Given the description of an element on the screen output the (x, y) to click on. 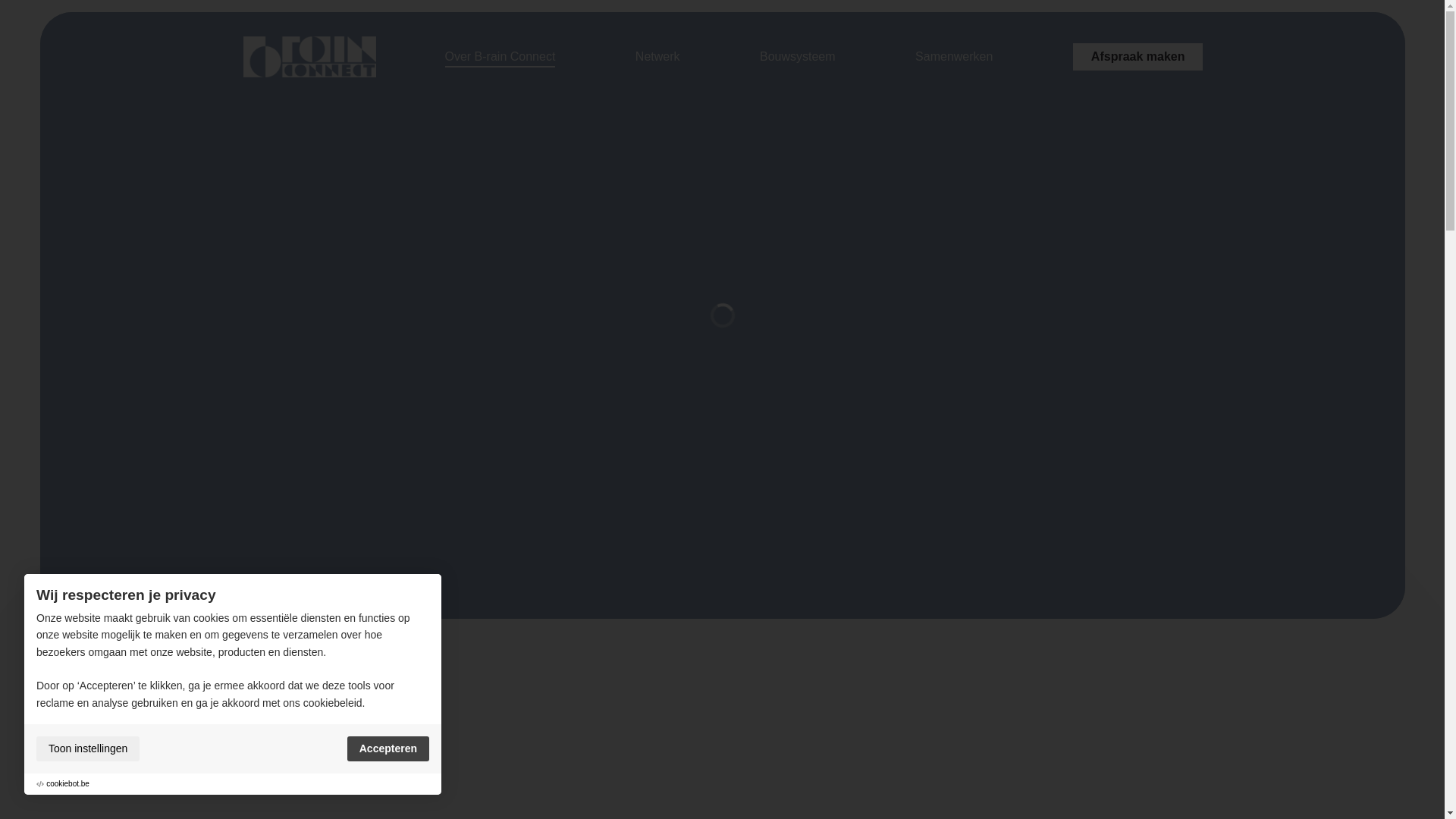
Afspraak maken Element type: text (1138, 56)
Accepteren Element type: text (388, 748)
cookiebot.be Element type: text (67, 783)
Netwerk Element type: text (657, 56)
Samenwerken Element type: text (953, 56)
Over B-rain Connect Element type: text (499, 56)
B-rain Connect Element type: text (309, 56)
Toon instellingen Element type: text (87, 748)
Bouwsysteem Element type: text (797, 56)
